Given the description of an element on the screen output the (x, y) to click on. 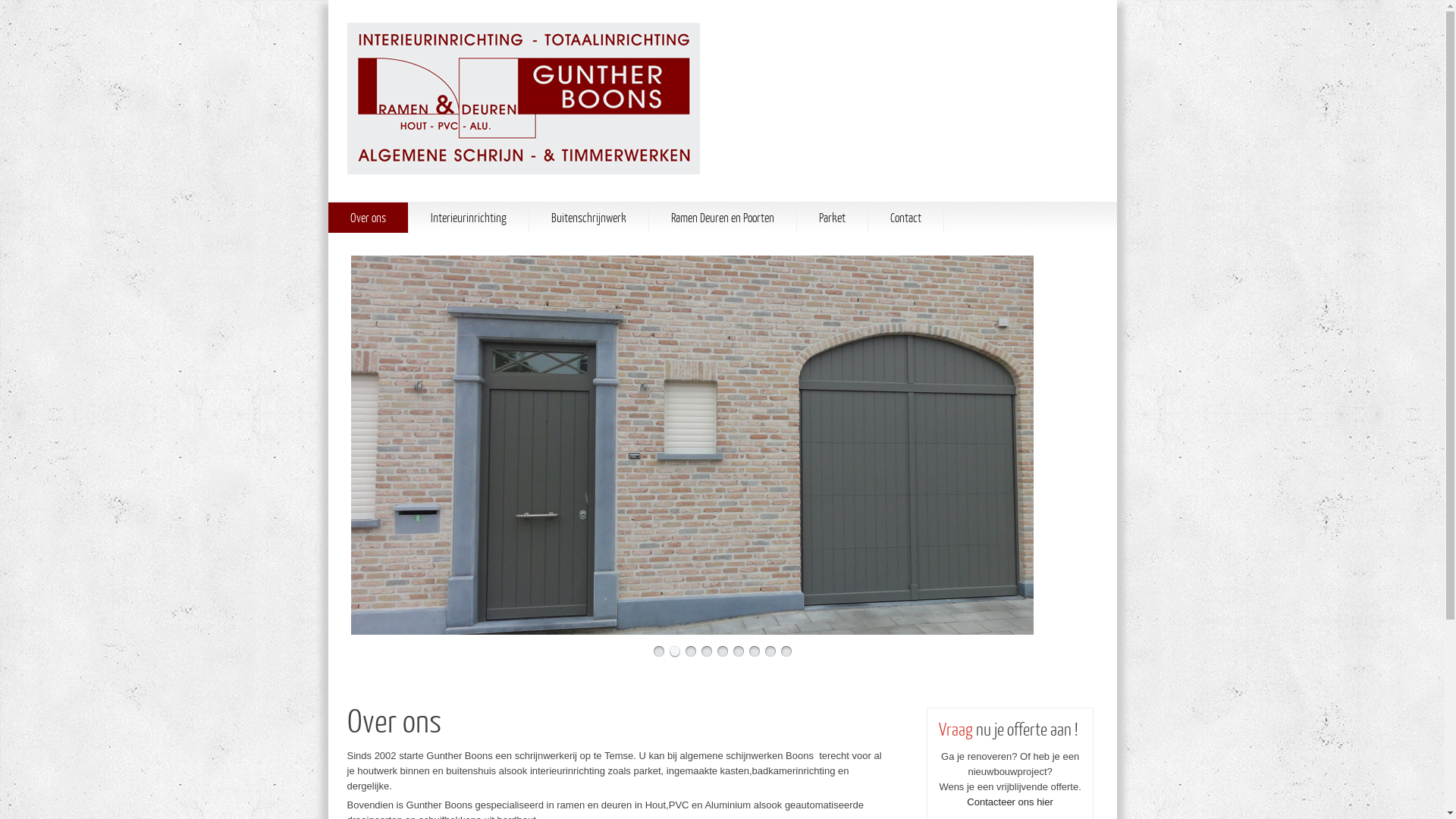
Parket Element type: text (831, 217)
Over ons Element type: text (367, 217)
Contacteer ons hier Element type: text (1009, 801)
Interieurinrichting Element type: text (467, 217)
Buitenschrijnwerk Element type: text (588, 217)
Contact Element type: text (904, 217)
Ramen Deuren en Poorten Element type: text (722, 217)
